Given the description of an element on the screen output the (x, y) to click on. 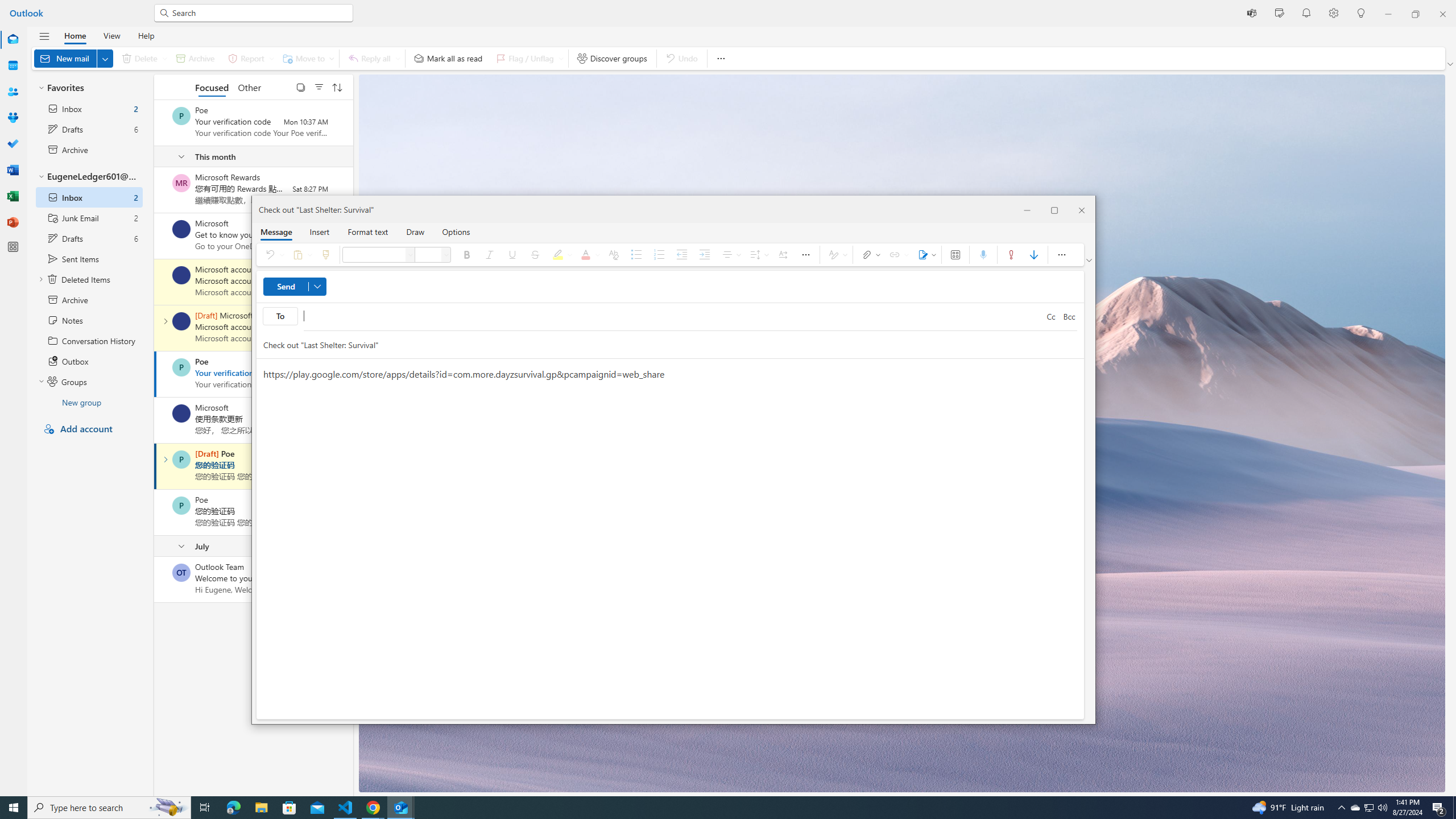
Search highlights icon opens search home window (167, 807)
Microsoft (180, 413)
Word (12, 169)
Focused (212, 86)
Move to (306, 58)
Clear formatting (613, 254)
Microsoft Store (289, 807)
Link (897, 254)
Visual Studio Code - 1 running window (345, 807)
Q2790: 100% (1382, 807)
Select a conversation (180, 572)
Groups (12, 117)
More options (1355, 807)
Microsoft account team (1061, 254)
